Given the description of an element on the screen output the (x, y) to click on. 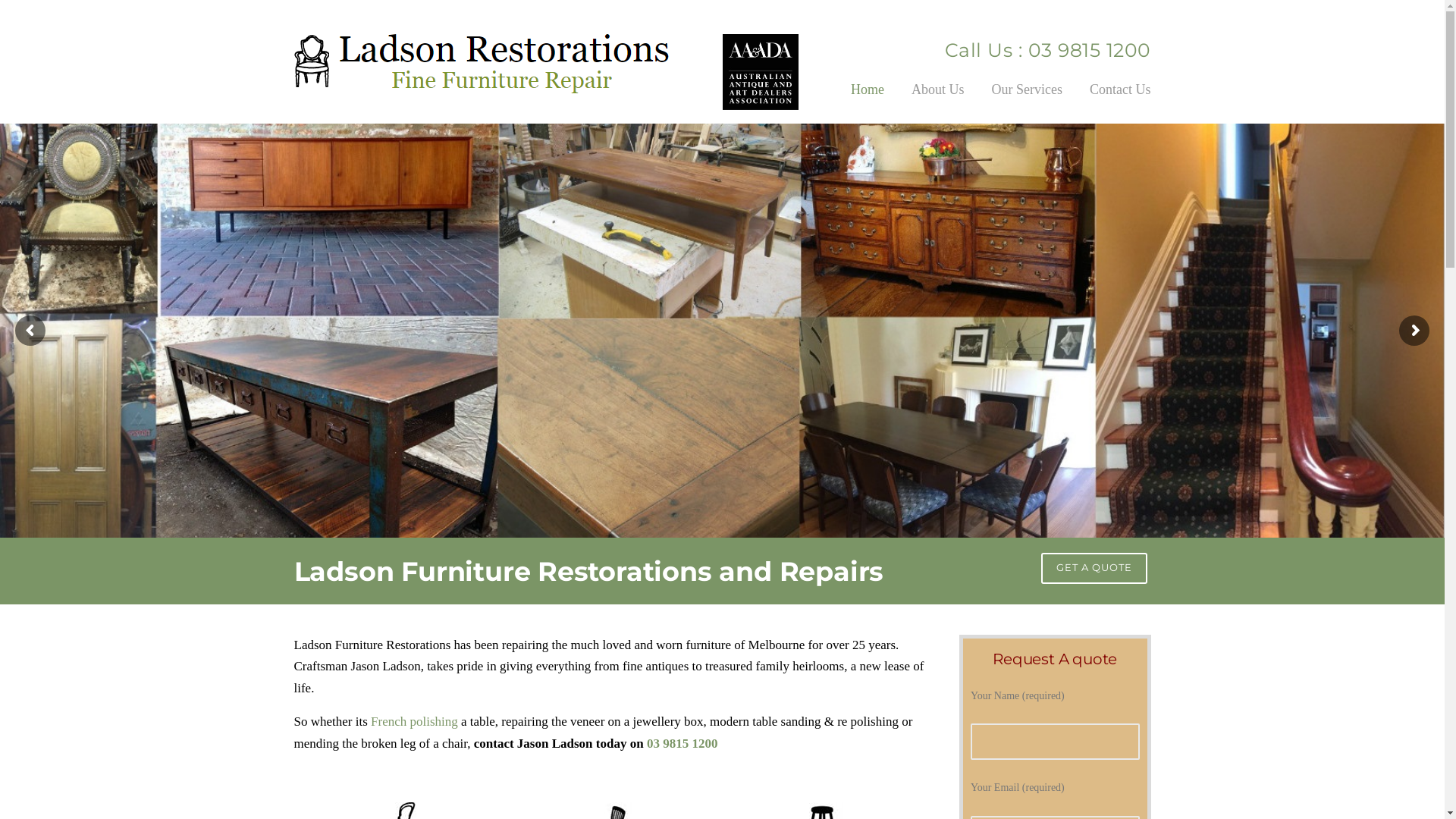
French polishing Element type: text (414, 721)
Home Element type: text (867, 100)
About Us Element type: text (937, 100)
GET A QUOTE Element type: text (1093, 567)
03 9815 1200 Element type: text (1086, 49)
Contact Us Element type: text (1113, 100)
03 9815 1200 Element type: text (682, 743)
Our Services Element type: text (1027, 100)
Ladson Element type: hover (481, 62)
